Given the description of an element on the screen output the (x, y) to click on. 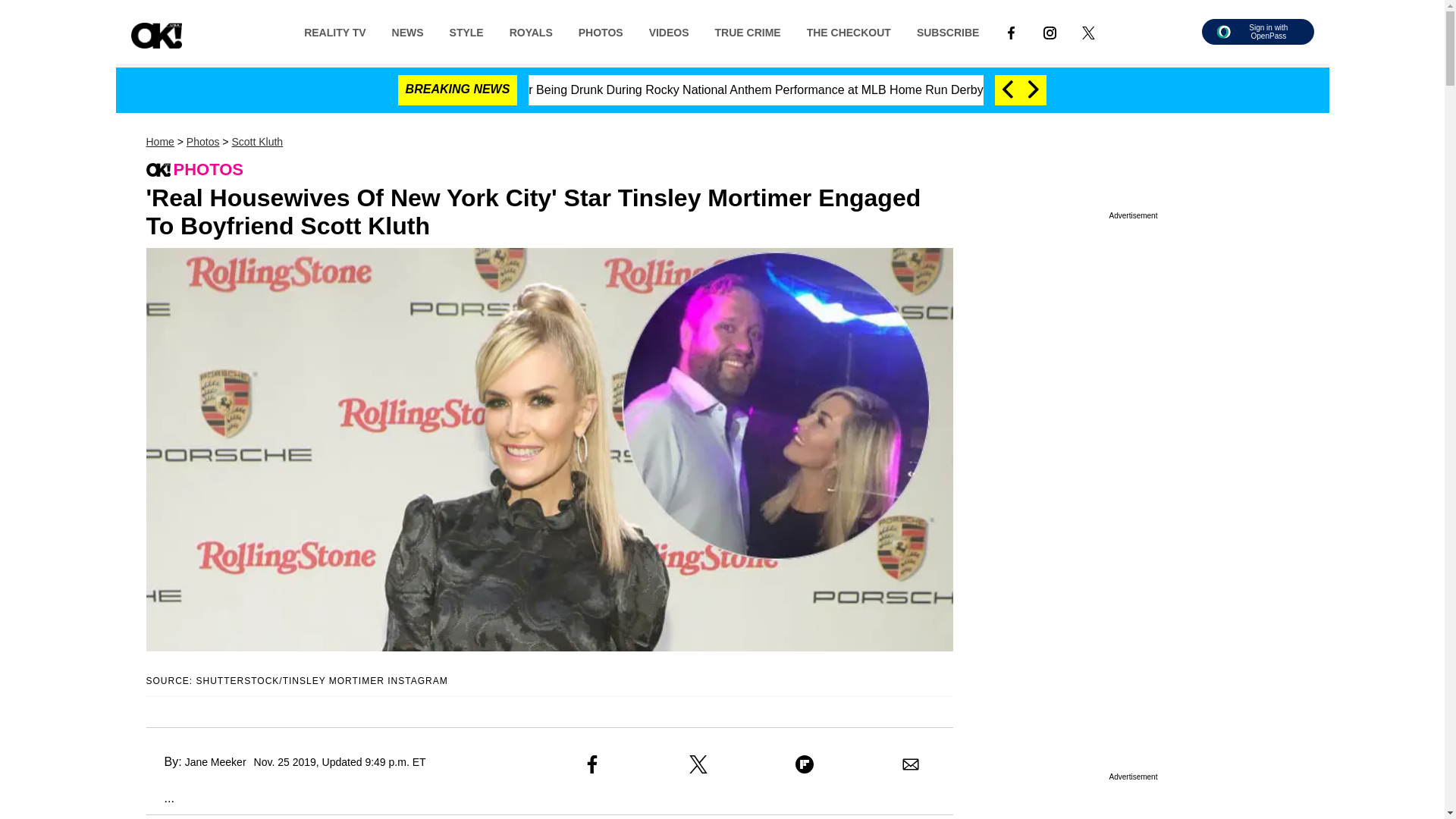
Share to Flipboard (803, 764)
VIDEOS (668, 31)
Link to Facebook (1010, 31)
Sign in with OpenPass (1257, 31)
Scott Kluth (256, 141)
Share to Facebook (590, 764)
ROYALS (531, 31)
PHOTOS (601, 31)
REALITY TV (334, 31)
LINK TO INSTAGRAM (1050, 32)
NEWS (407, 31)
LINK TO X (1087, 32)
Link to X (1088, 31)
Share to Email (909, 764)
STYLE (466, 31)
